Given the description of an element on the screen output the (x, y) to click on. 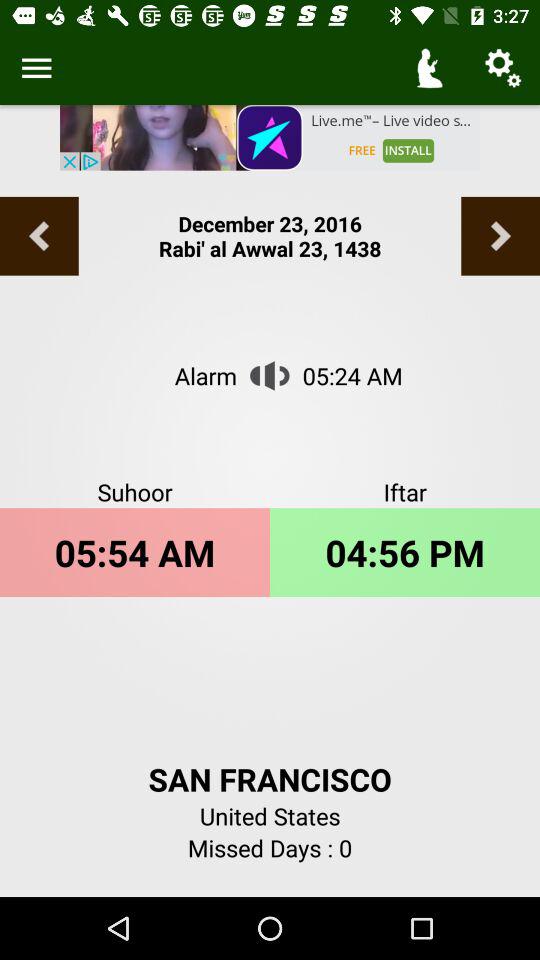
go to previous (500, 235)
